Given the description of an element on the screen output the (x, y) to click on. 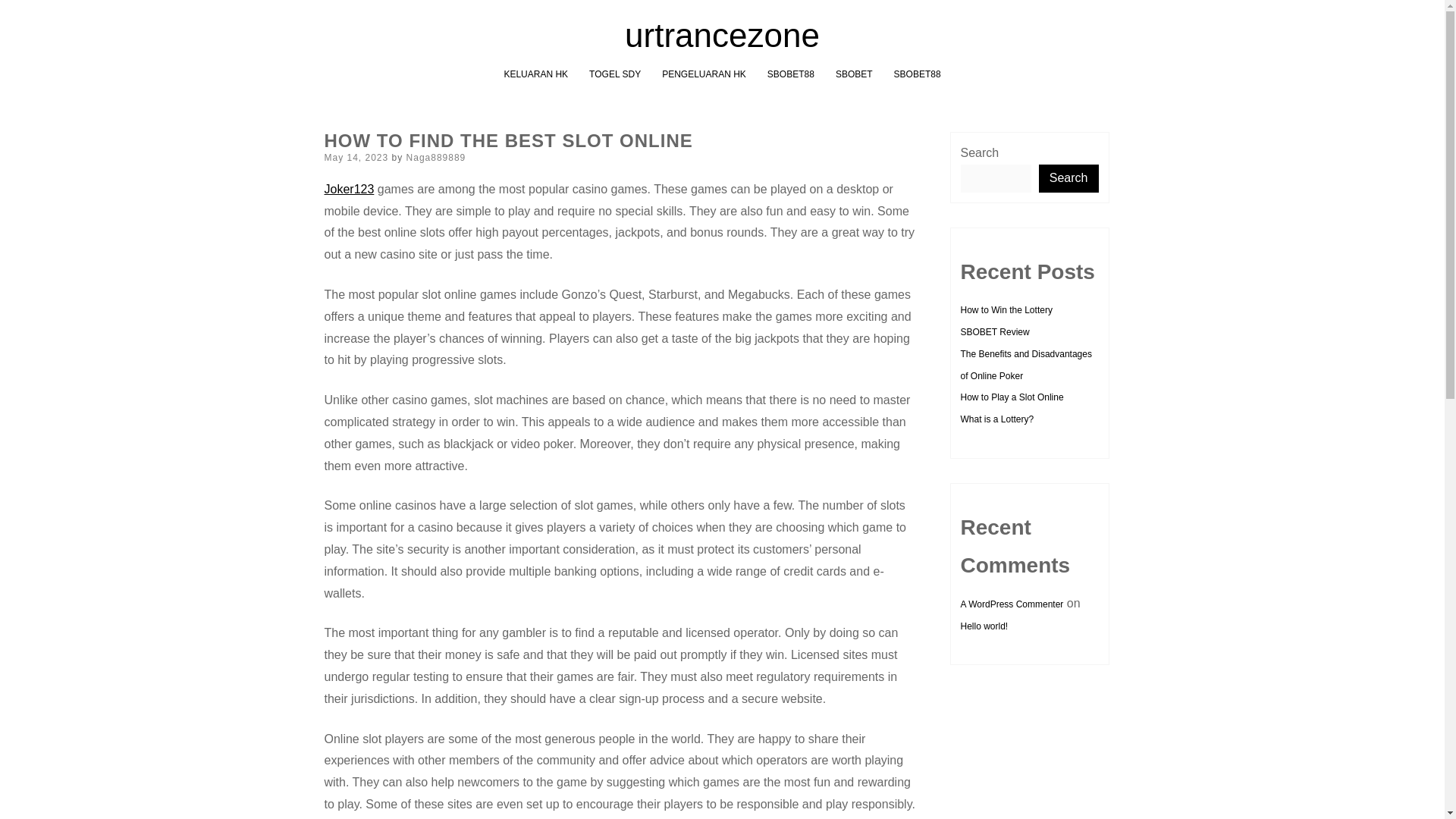
Hello world! (983, 625)
May 14, 2023 (356, 157)
SBOBET Review (994, 331)
The Benefits and Disadvantages of Online Poker (1024, 364)
Search (1069, 178)
A WordPress Commenter (1010, 603)
SBOBET88 (790, 73)
How to Play a Slot Online (1010, 397)
TOGEL SDY (614, 73)
How to Win the Lottery (1005, 309)
urtrancezone (721, 35)
KELUARAN HK (535, 73)
PENGELUARAN HK (703, 73)
SBOBET (853, 73)
